Given the description of an element on the screen output the (x, y) to click on. 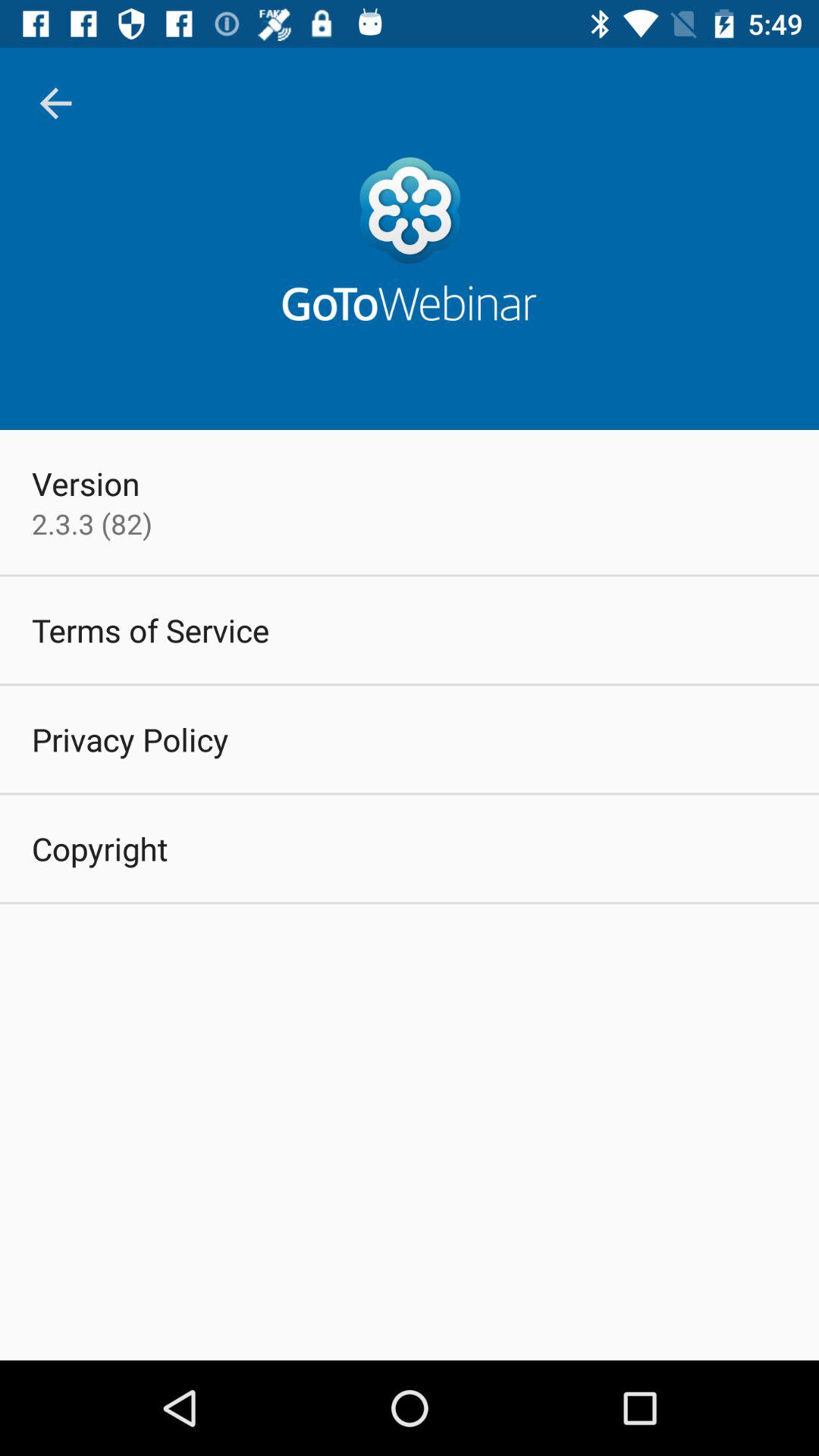
swipe until the 2 3 3 (91, 523)
